Given the description of an element on the screen output the (x, y) to click on. 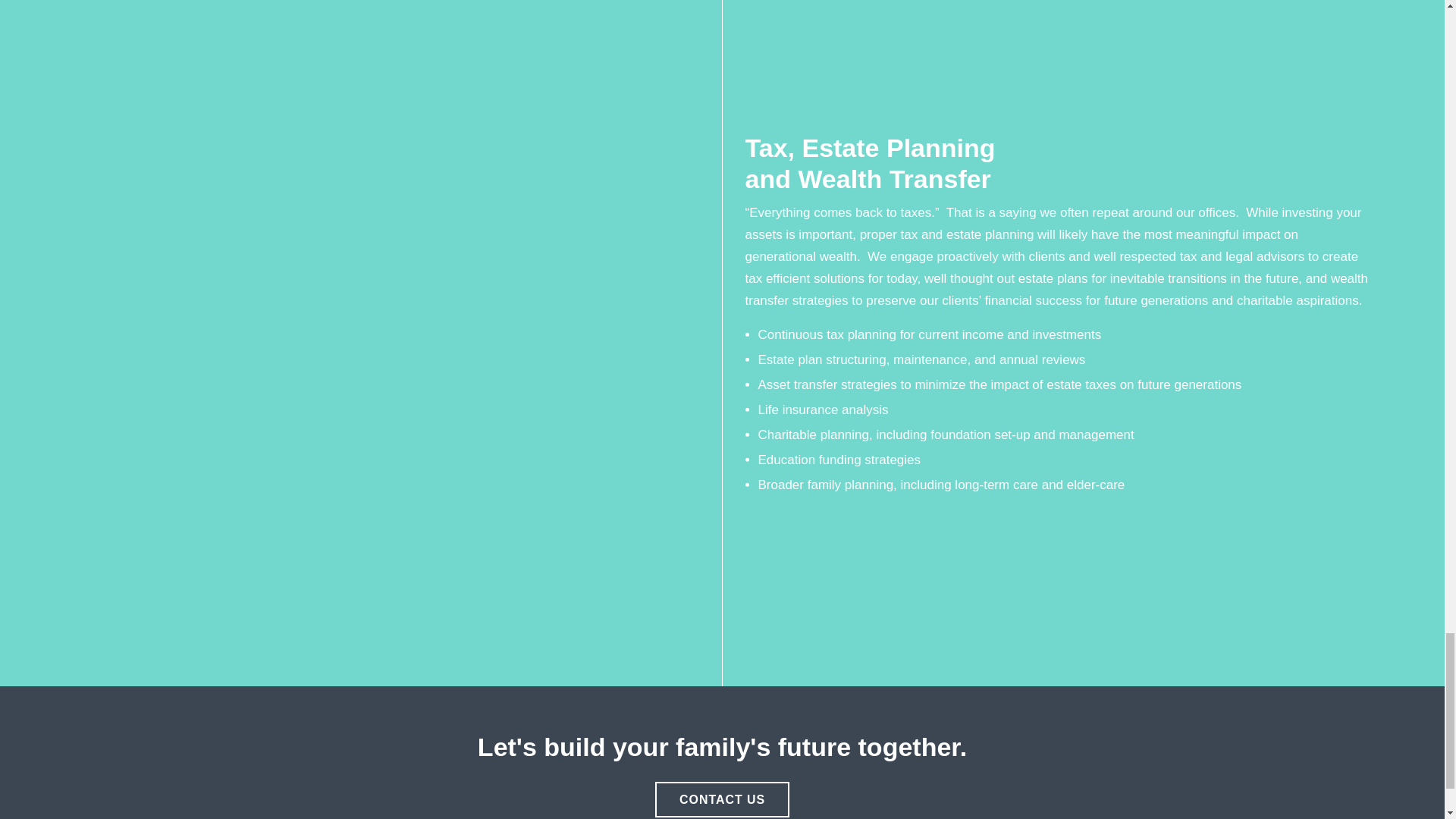
CONTACT US (722, 799)
